Given the description of an element on the screen output the (x, y) to click on. 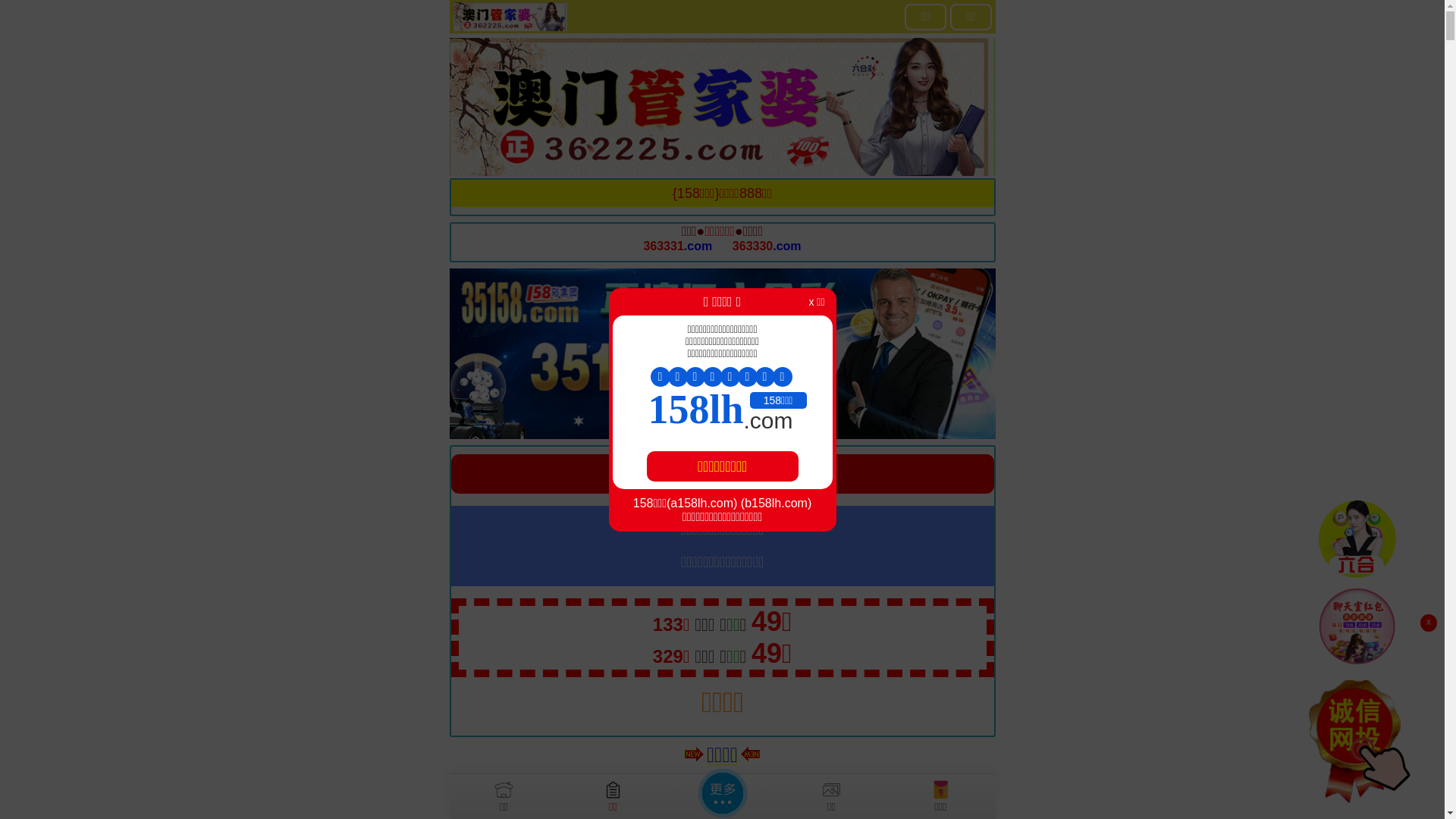
x Element type: text (1428, 622)
